Given the description of an element on the screen output the (x, y) to click on. 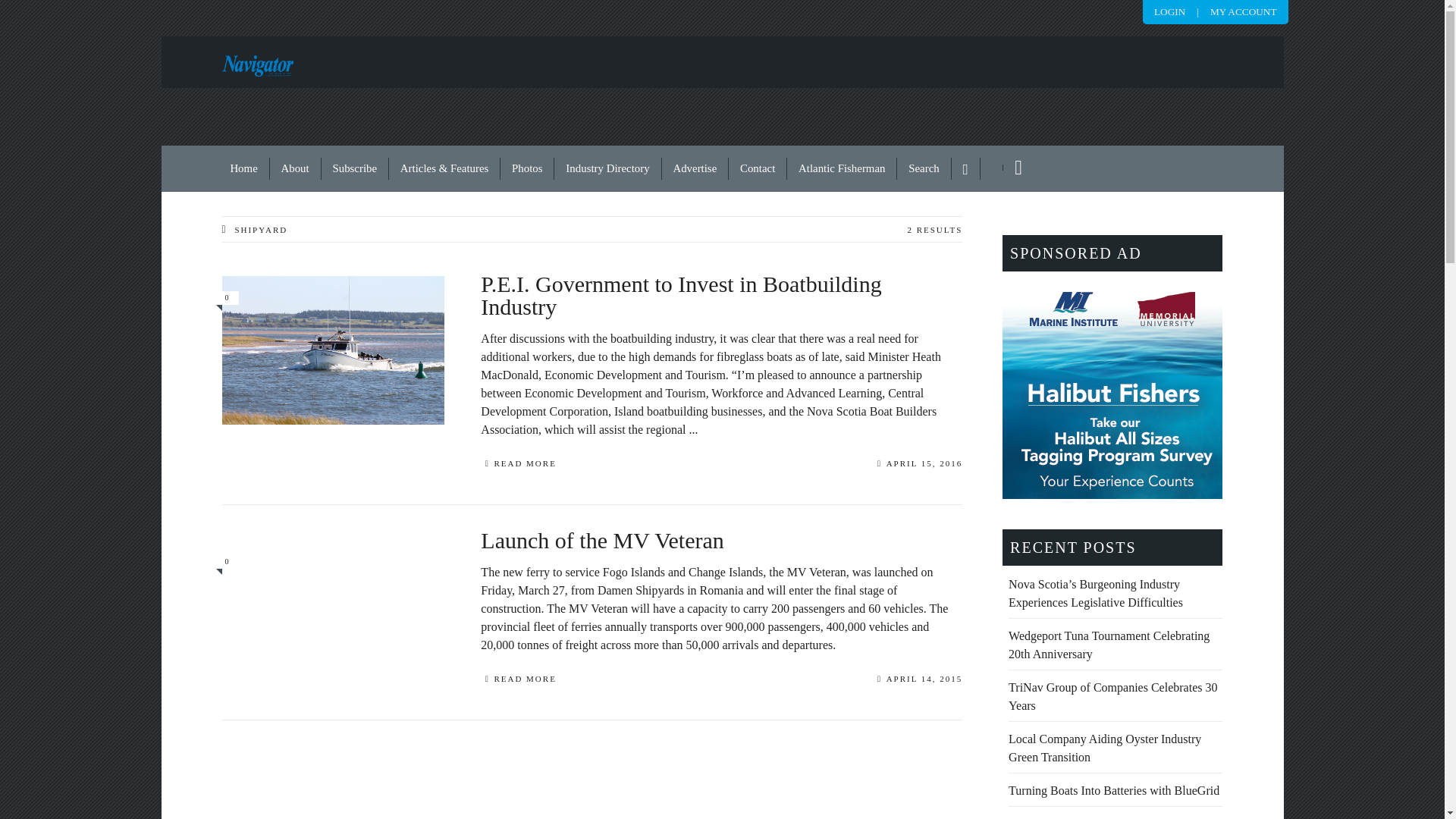
READ MORE (518, 465)
P.E.I. Government to Invest in Boatbuilding Industry (721, 308)
YouTube (1012, 168)
LOGIN (1169, 11)
Search (923, 169)
About (295, 169)
Twitter (991, 166)
APRIL 15, 2016 (919, 465)
Subscribe (354, 169)
Facebook (965, 169)
Atlantic Fisherman (841, 169)
TriNav Group of Companies Celebrates 30 Years (1113, 695)
Search (923, 169)
Advertise (695, 169)
About (295, 169)
